Given the description of an element on the screen output the (x, y) to click on. 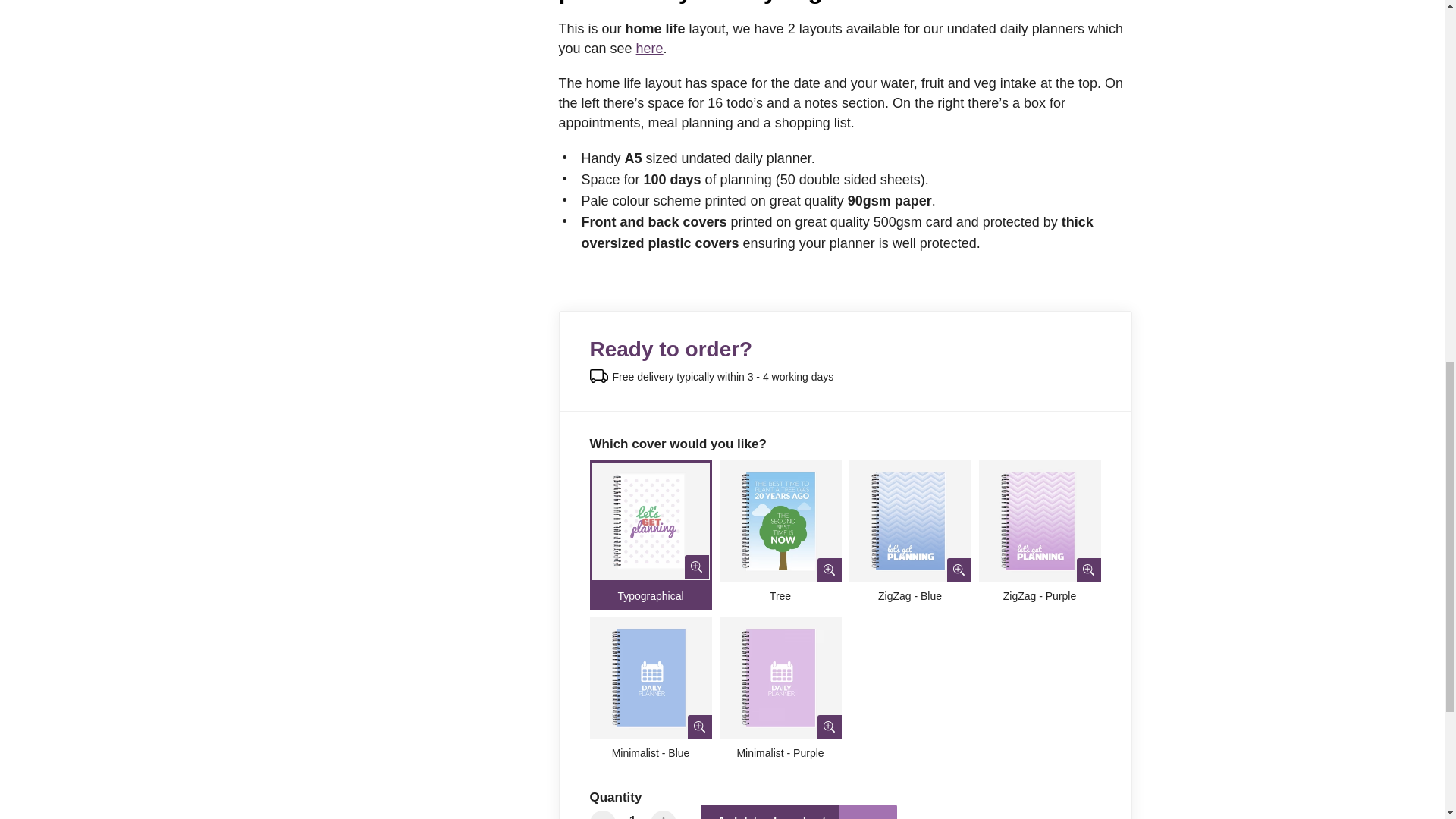
Add to basket (771, 811)
here (649, 48)
1 (632, 813)
